Given the description of an element on the screen output the (x, y) to click on. 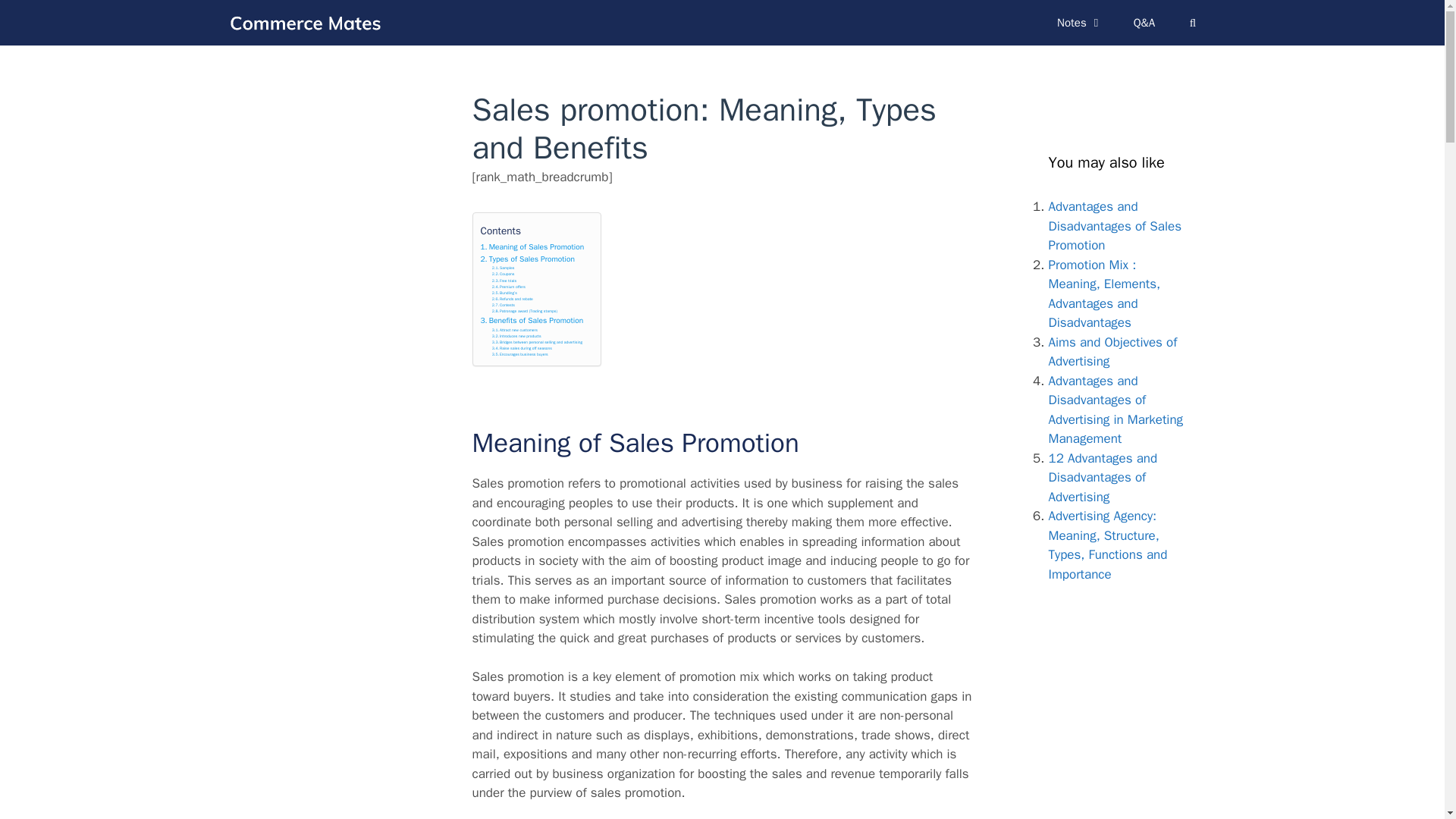
Free trials (504, 281)
CommerceMates (308, 22)
Refunds and rebate (512, 299)
Contests (503, 305)
Meaning of Sales Promotion (532, 246)
Samples (503, 268)
Premium offers (508, 287)
CommerceMates (304, 22)
Types of Sales Promotion (527, 259)
Coupons (503, 274)
Notes (1080, 22)
